Given the description of an element on the screen output the (x, y) to click on. 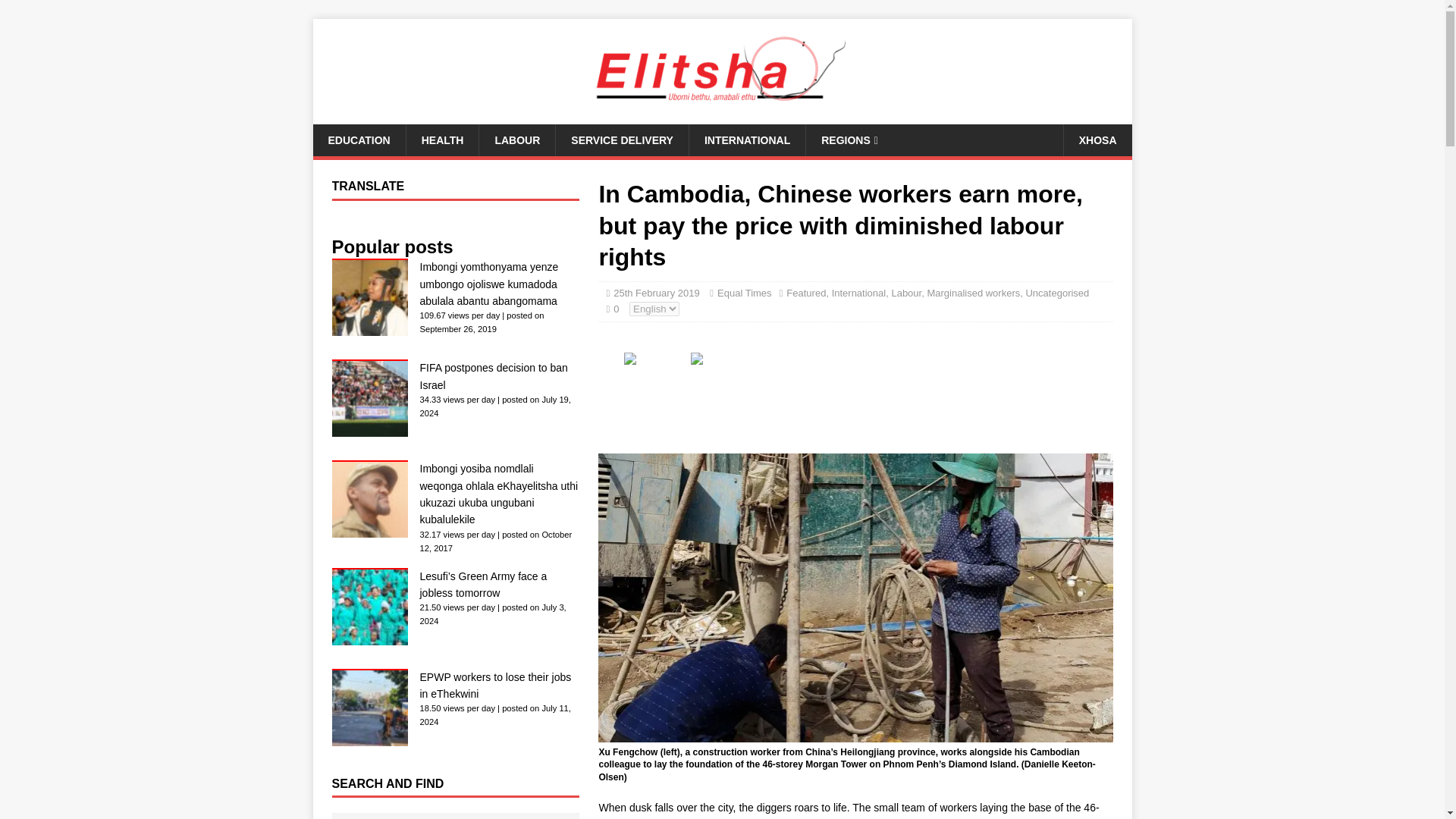
EDUCATION (358, 140)
HEALTH (442, 140)
SERVICE DELIVERY (621, 140)
INTERNATIONAL (746, 140)
Featured (805, 292)
Labour (906, 292)
25th February 2019 (655, 292)
Marginalised workers (973, 292)
Uncategorised (1057, 292)
XHOSA (1097, 140)
International (858, 292)
REGIONS (849, 140)
LABOUR (516, 140)
